Given the description of an element on the screen output the (x, y) to click on. 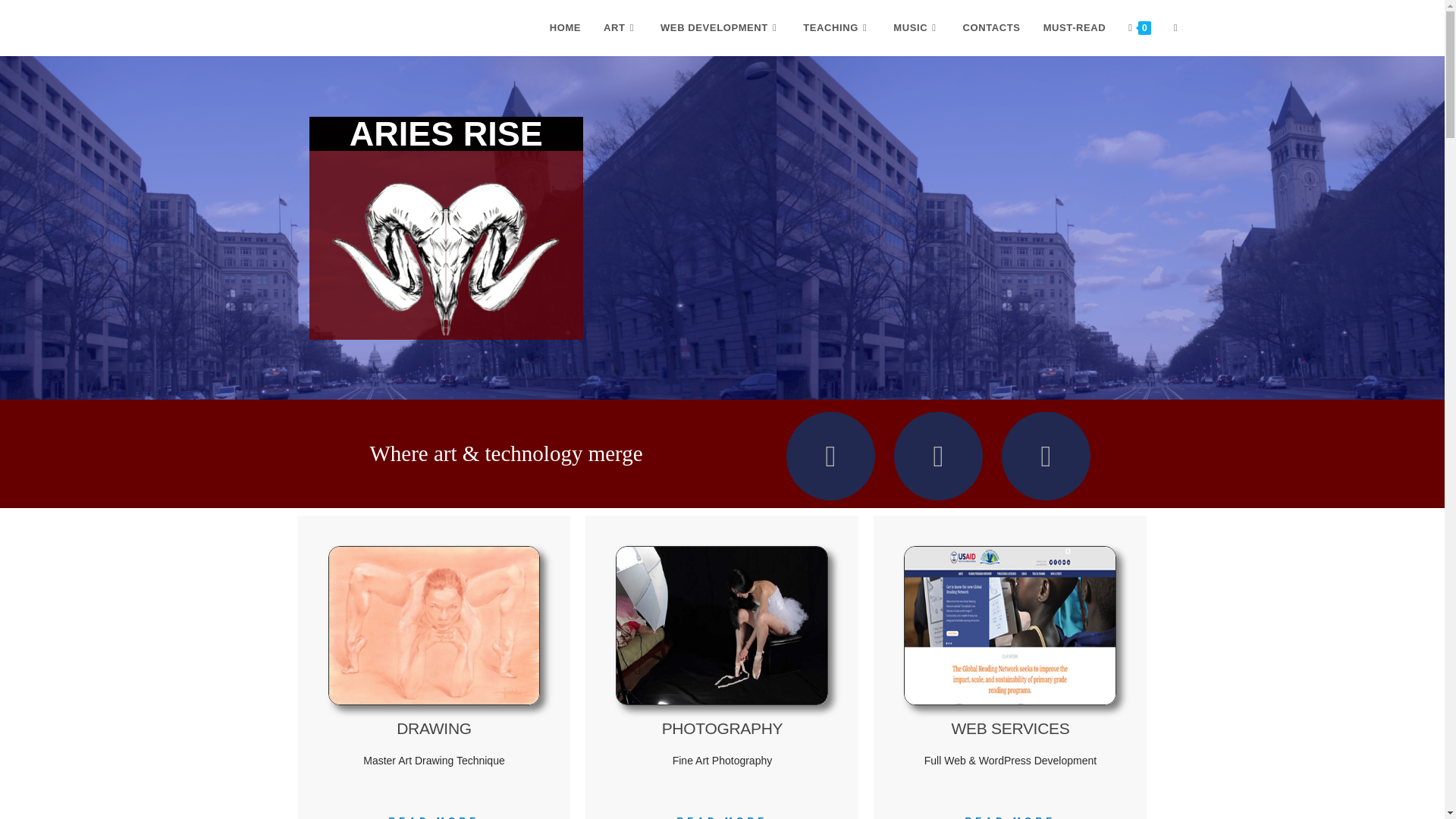
Global Reading Network Home Content Box (1010, 625)
CONTACTS (992, 28)
MUSIC (916, 28)
TEACHING (837, 28)
HOME (565, 28)
WEB DEVELOPMENT (720, 28)
ART (620, 28)
MUST-READ (1075, 28)
Tying Ballet Shoes Home Content Box (721, 625)
